Given the description of an element on the screen output the (x, y) to click on. 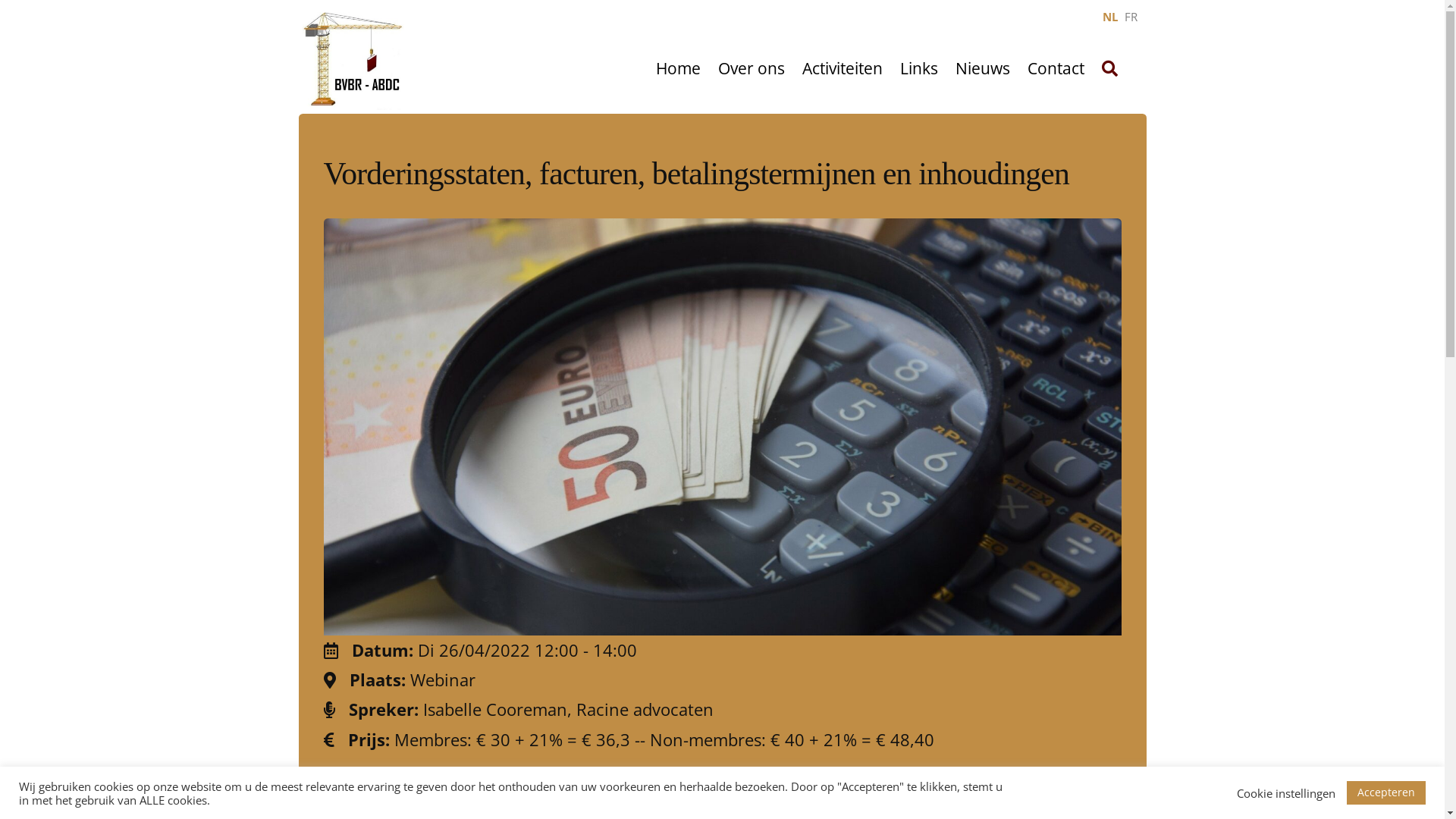
NL Element type: text (1111, 17)
Cookie instellingen Element type: text (1285, 792)
Over ons Element type: text (751, 68)
Home Element type: text (677, 68)
Accepteren Element type: text (1385, 792)
Nieuws Element type: text (982, 68)
Activiteiten Element type: text (842, 68)
Links Element type: text (919, 68)
FR Element type: text (1129, 17)
Contact Element type: text (1055, 68)
